Given the description of an element on the screen output the (x, y) to click on. 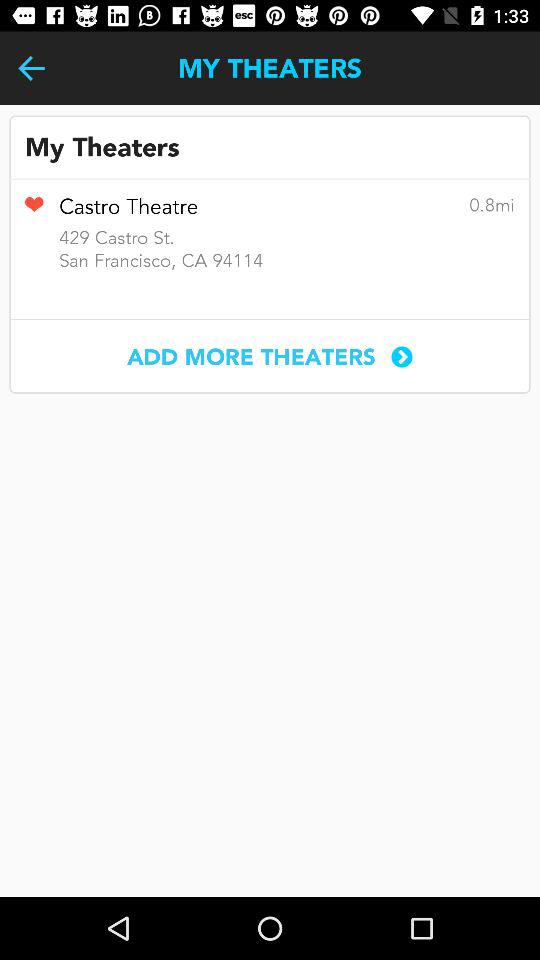
remembers that you liked this business (34, 211)
